Given the description of an element on the screen output the (x, y) to click on. 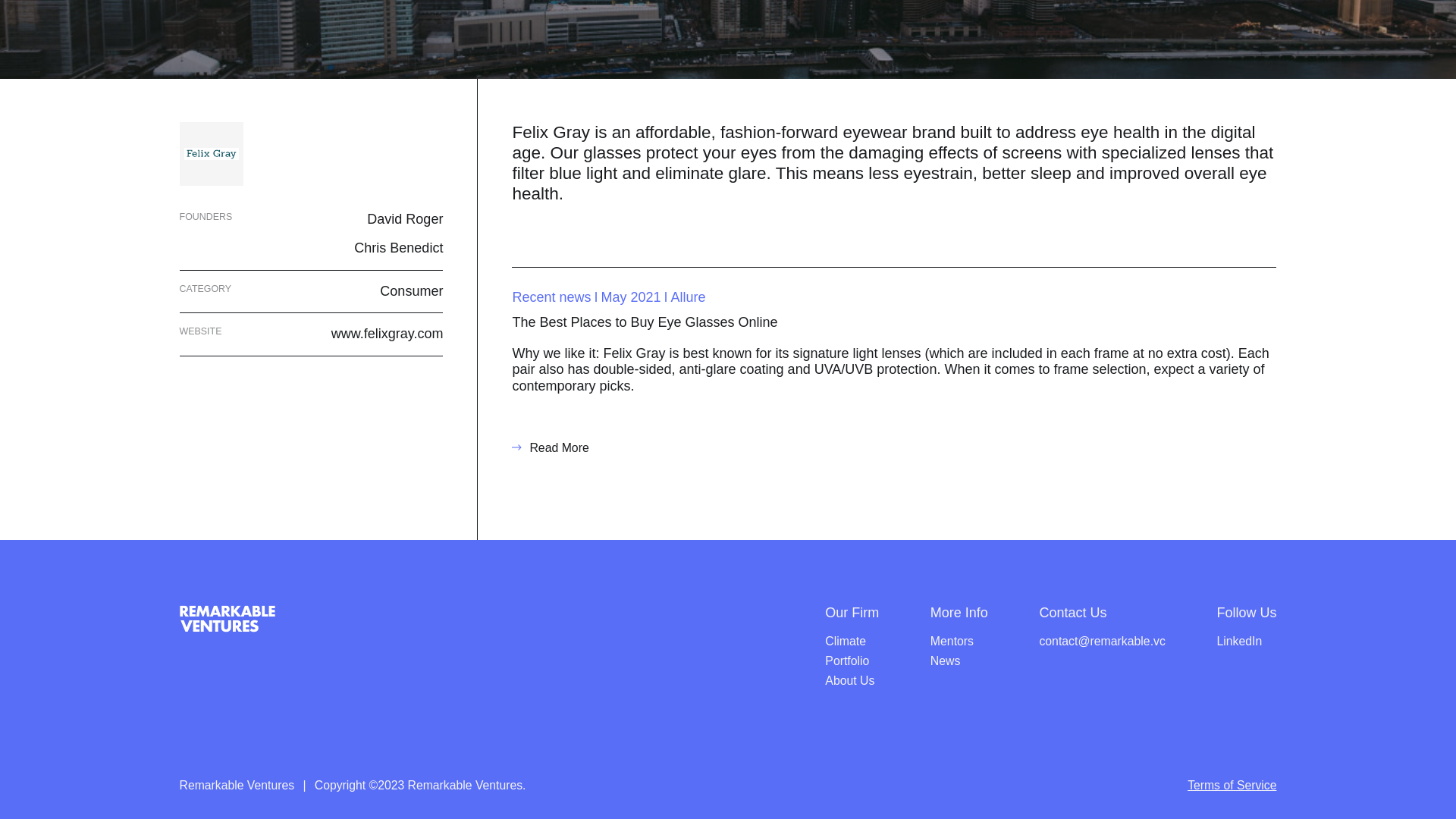
Portfolio (847, 660)
Read More (550, 447)
News (945, 660)
Mentors (952, 640)
About Us (850, 680)
www.felixgray.com (387, 340)
Terms of Service (1232, 785)
Climate (845, 640)
LinkedIn (1238, 644)
